Given the description of an element on the screen output the (x, y) to click on. 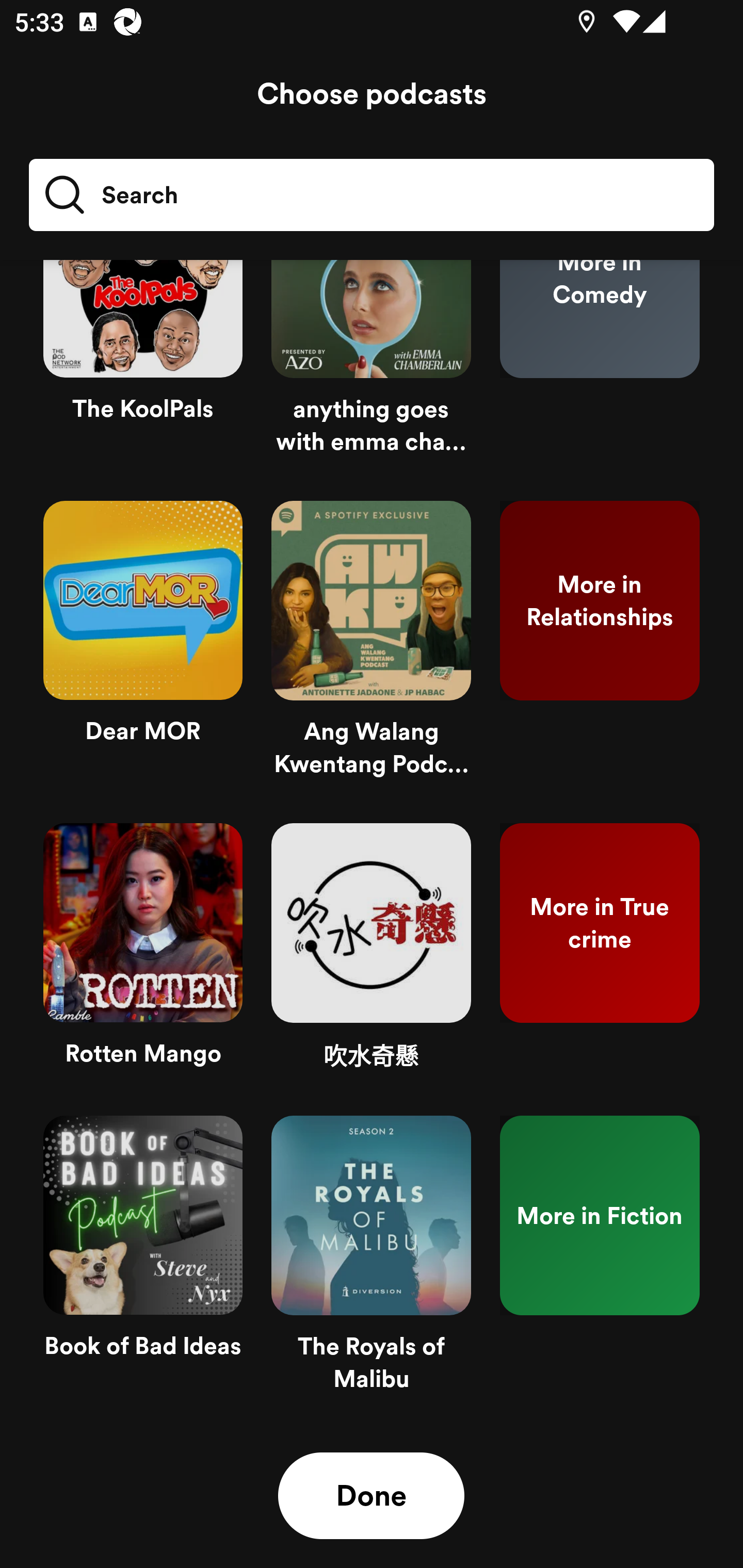
Search (371, 195)
Search (110, 195)
The KoolPals unselected The KoolPals (142, 373)
More in Comedy (599, 373)
Dear MOR unselected Dear MOR (142, 647)
More in Relationships (599, 647)
Rotten Mango unselected Rotten Mango (142, 954)
吹水奇懸 unselected 吹水奇懸 (371, 954)
More in True crime (599, 954)
Book of Bad Ideas unselected Book of Bad Ideas (142, 1261)
More in Fiction (599, 1261)
Done (370, 1495)
